Given the description of an element on the screen output the (x, y) to click on. 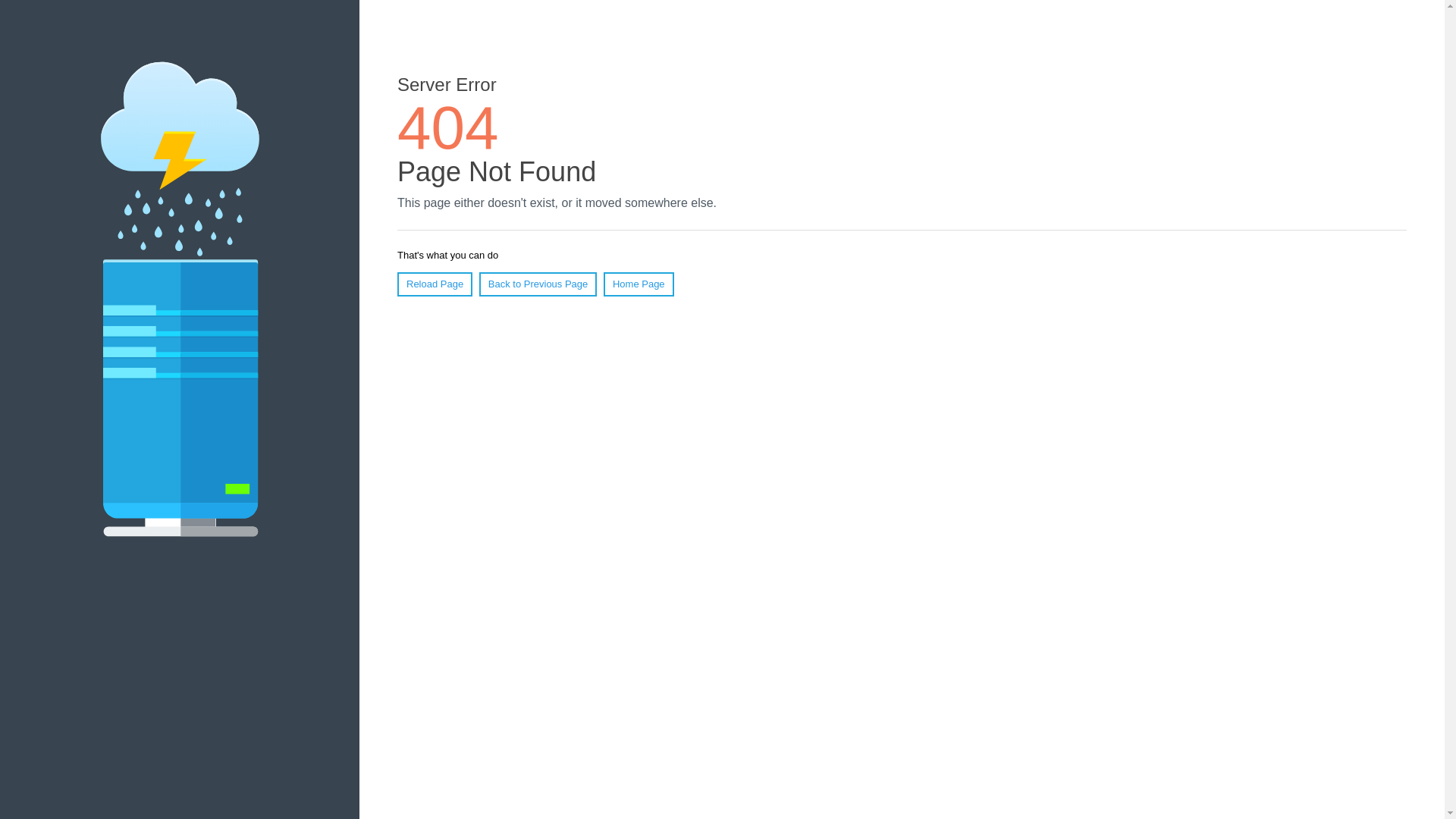
Home Page (639, 283)
Reload Page (434, 283)
Back to Previous Page (537, 283)
